Given the description of an element on the screen output the (x, y) to click on. 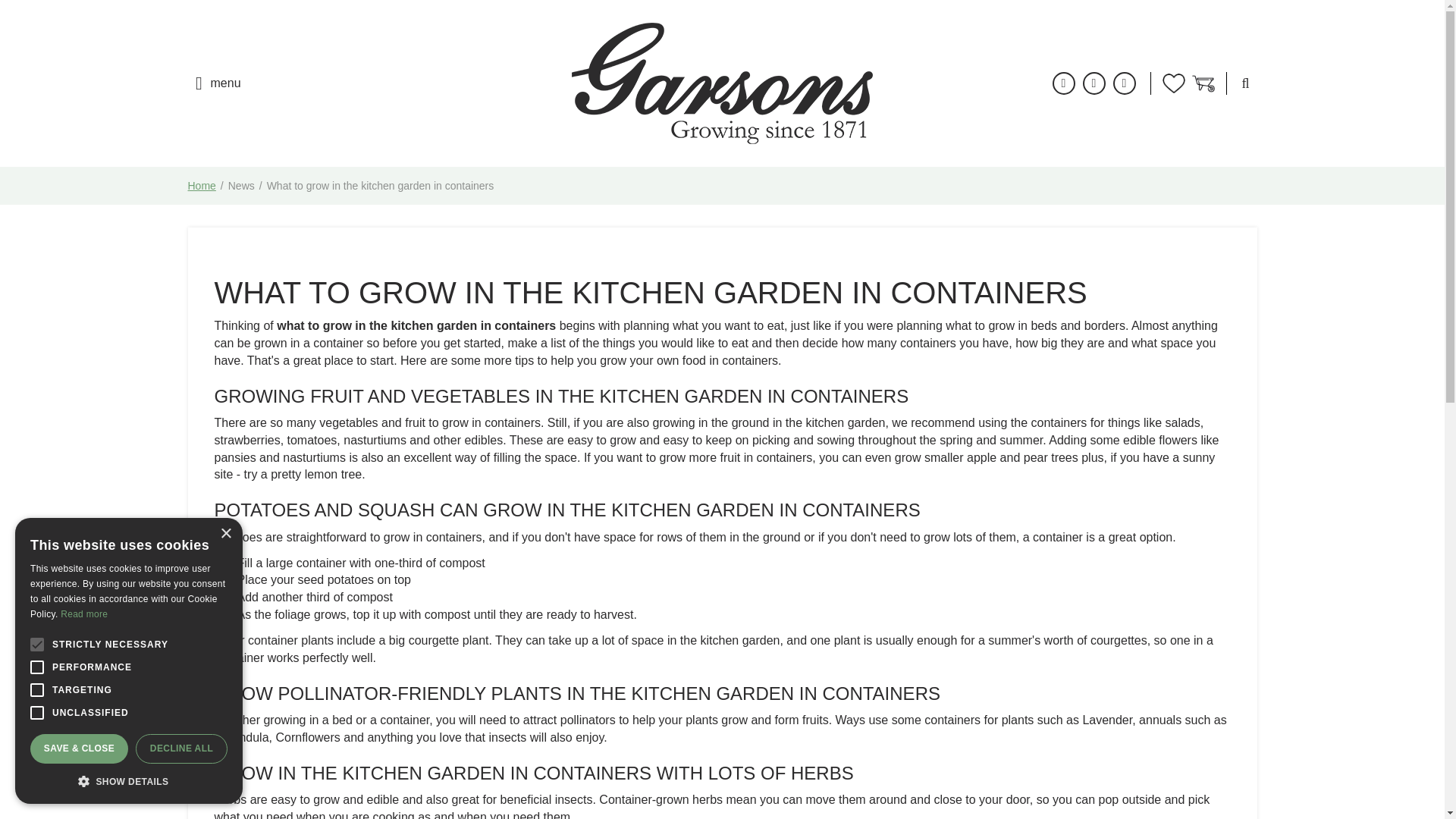
News (241, 185)
Go to the shopping cart (1202, 83)
Search (1234, 149)
What to grow in the kitchen garden in containers (380, 185)
src (1245, 83)
FB (1063, 83)
 menu (214, 83)
TT (1094, 83)
News (241, 185)
IG (1124, 83)
Garsons (722, 83)
Home (201, 185)
What to grow in the kitchen garden in containers (380, 185)
Home (201, 185)
Go to the wishlist (1172, 83)
